Given the description of an element on the screen output the (x, y) to click on. 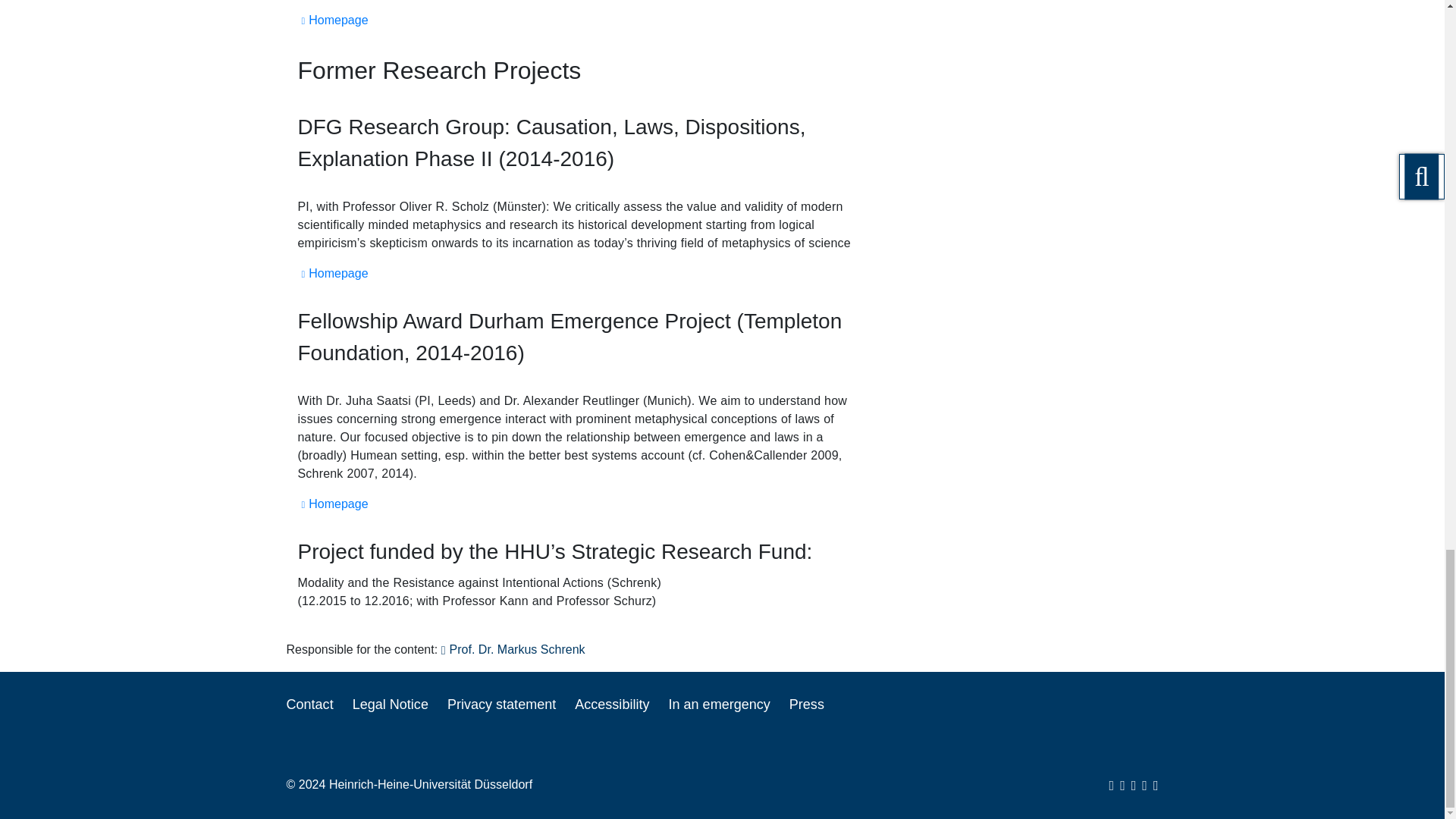
externer Link in neuem Fenster (332, 19)
externer Link in neuem Fenster (332, 503)
externer Link in neuem Fenster (332, 273)
